Given the description of an element on the screen output the (x, y) to click on. 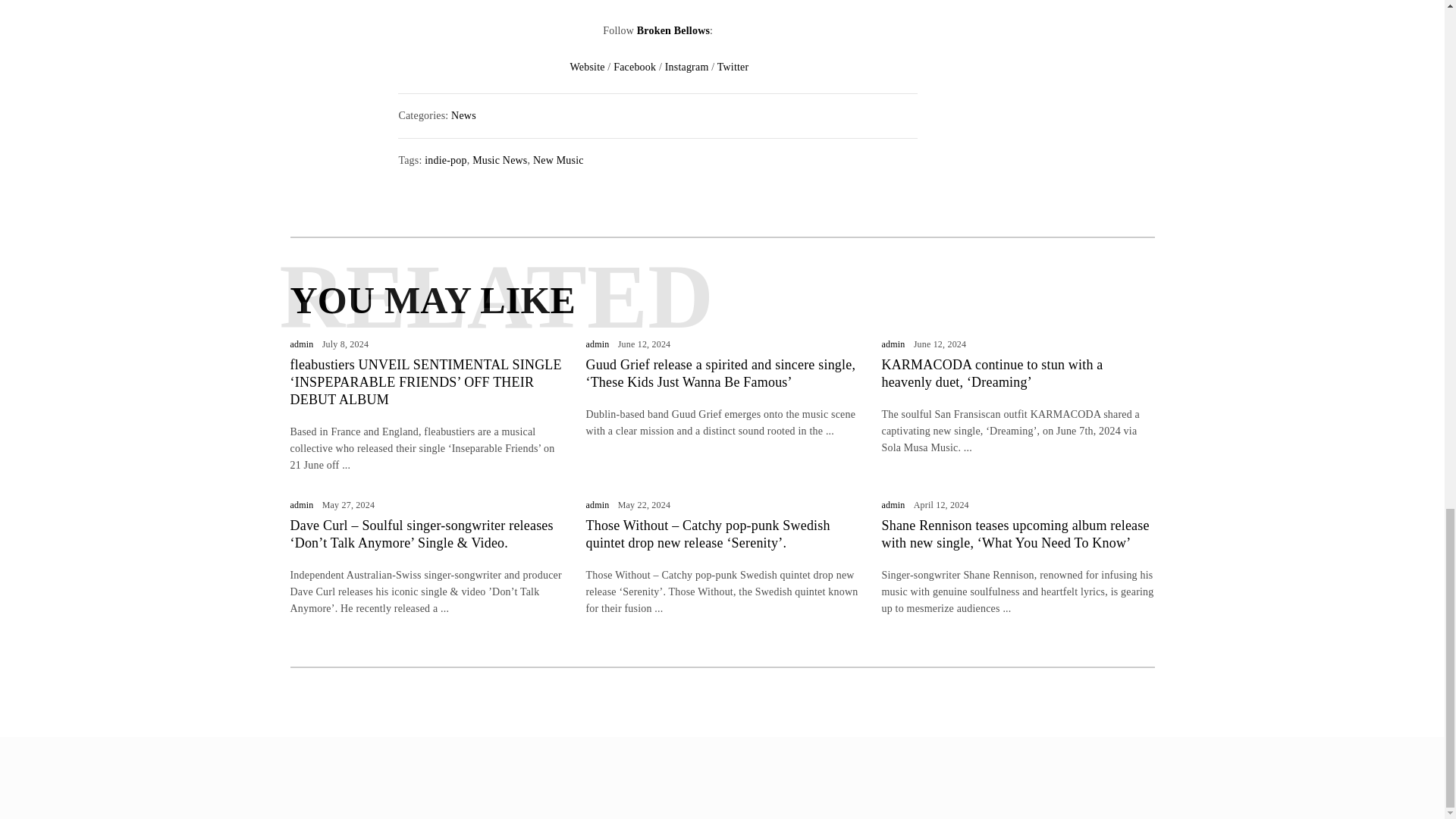
Instagram (687, 66)
Website (587, 66)
Twitter (733, 66)
Facebook (634, 66)
News (463, 115)
indie-pop (445, 160)
Music News (499, 160)
New Music (557, 160)
